Given the description of an element on the screen output the (x, y) to click on. 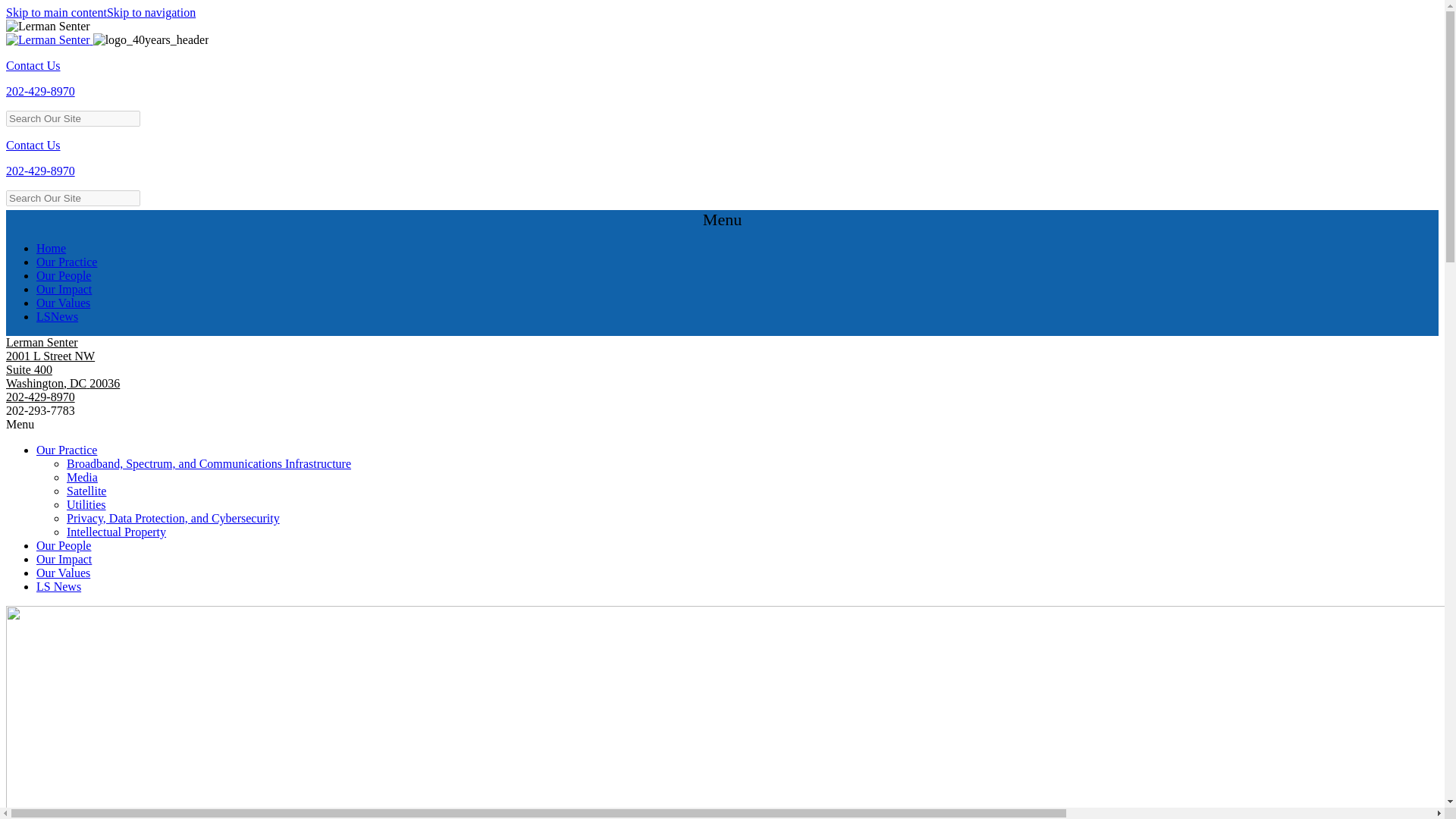
Our Practice (66, 261)
Contact Us (33, 65)
Our Values (63, 572)
Skip to navigation (150, 11)
Our Practice (66, 449)
LSNews (57, 316)
Privacy, Data Protection, and Cybersecurity (172, 517)
Contact Us (33, 144)
202-429-8970 (40, 91)
202-429-8970 (40, 396)
Utilities (86, 504)
Our Impact (63, 288)
Skip to main content (55, 11)
202-429-8970 (40, 170)
